Given the description of an element on the screen output the (x, y) to click on. 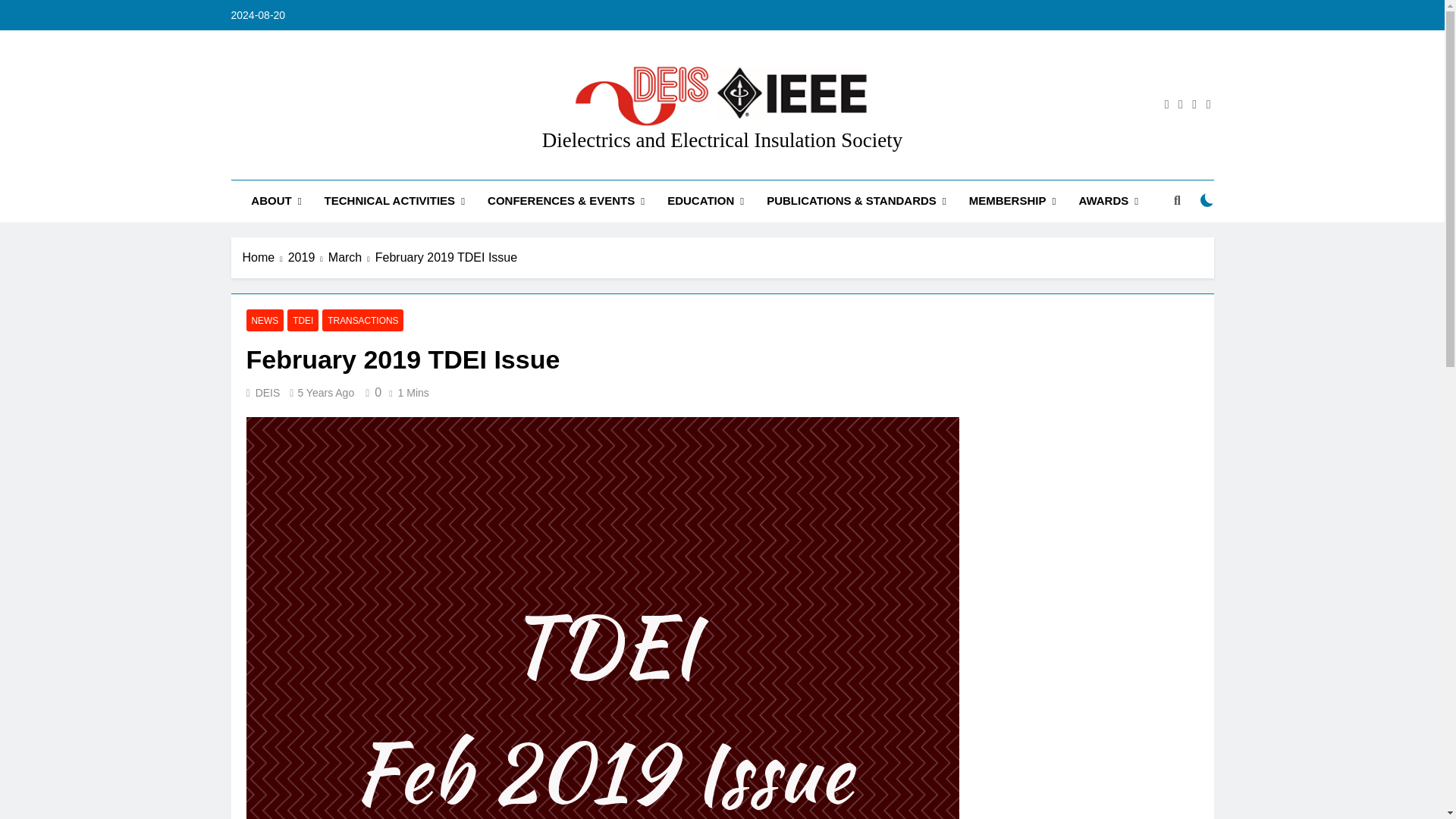
on (1206, 200)
TECHNICAL ACTIVITIES (394, 200)
Dielectrics and Electrical Insulation Society (721, 139)
EDUCATION (705, 200)
ABOUT (276, 200)
